Given the description of an element on the screen output the (x, y) to click on. 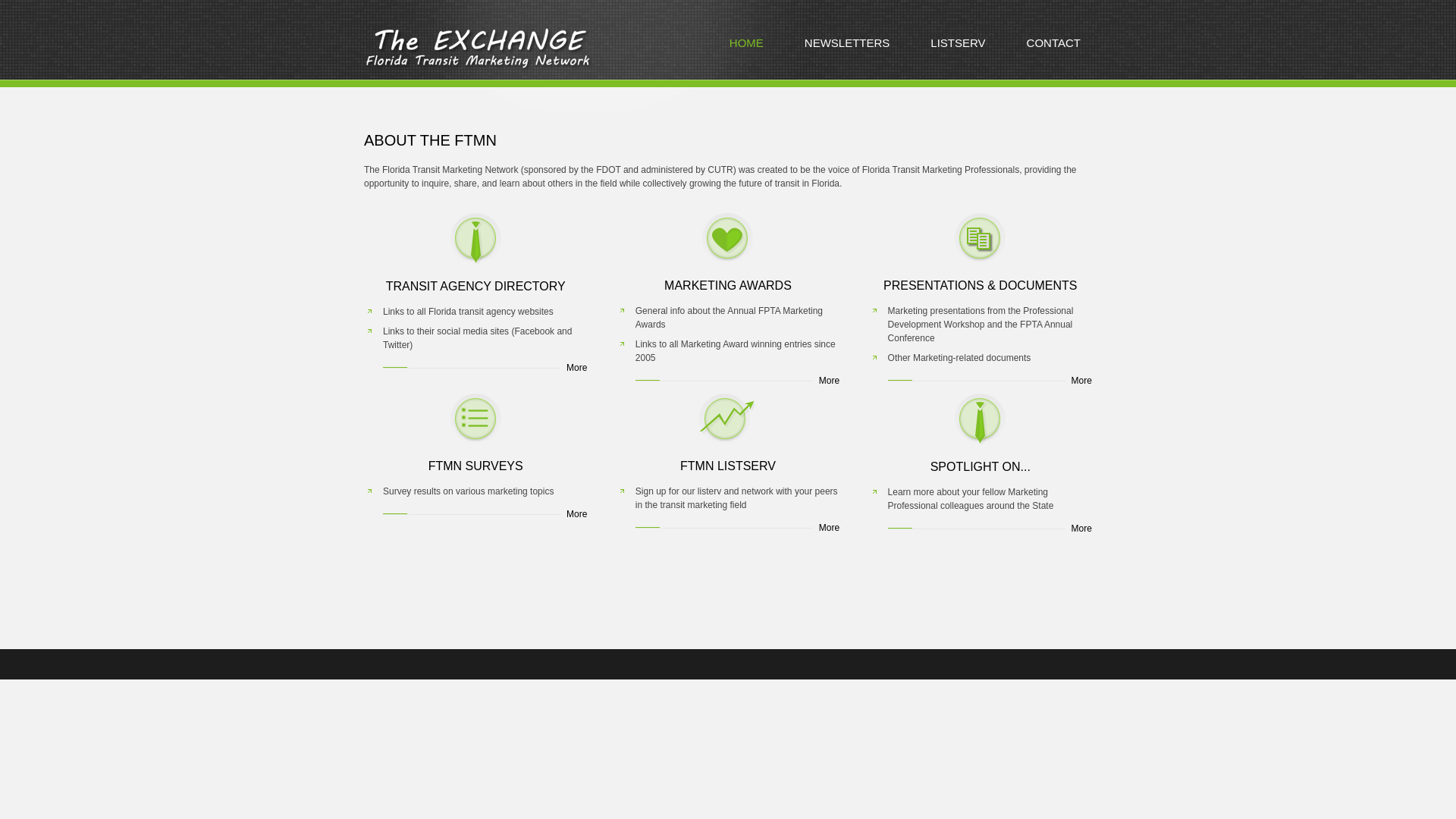
More (737, 527)
More (484, 367)
More (990, 528)
CONTACT (1053, 46)
More (484, 513)
More (737, 380)
More (990, 380)
LISTSERV (957, 46)
HOME (746, 46)
NEWSLETTERS (846, 46)
